Given the description of an element on the screen output the (x, y) to click on. 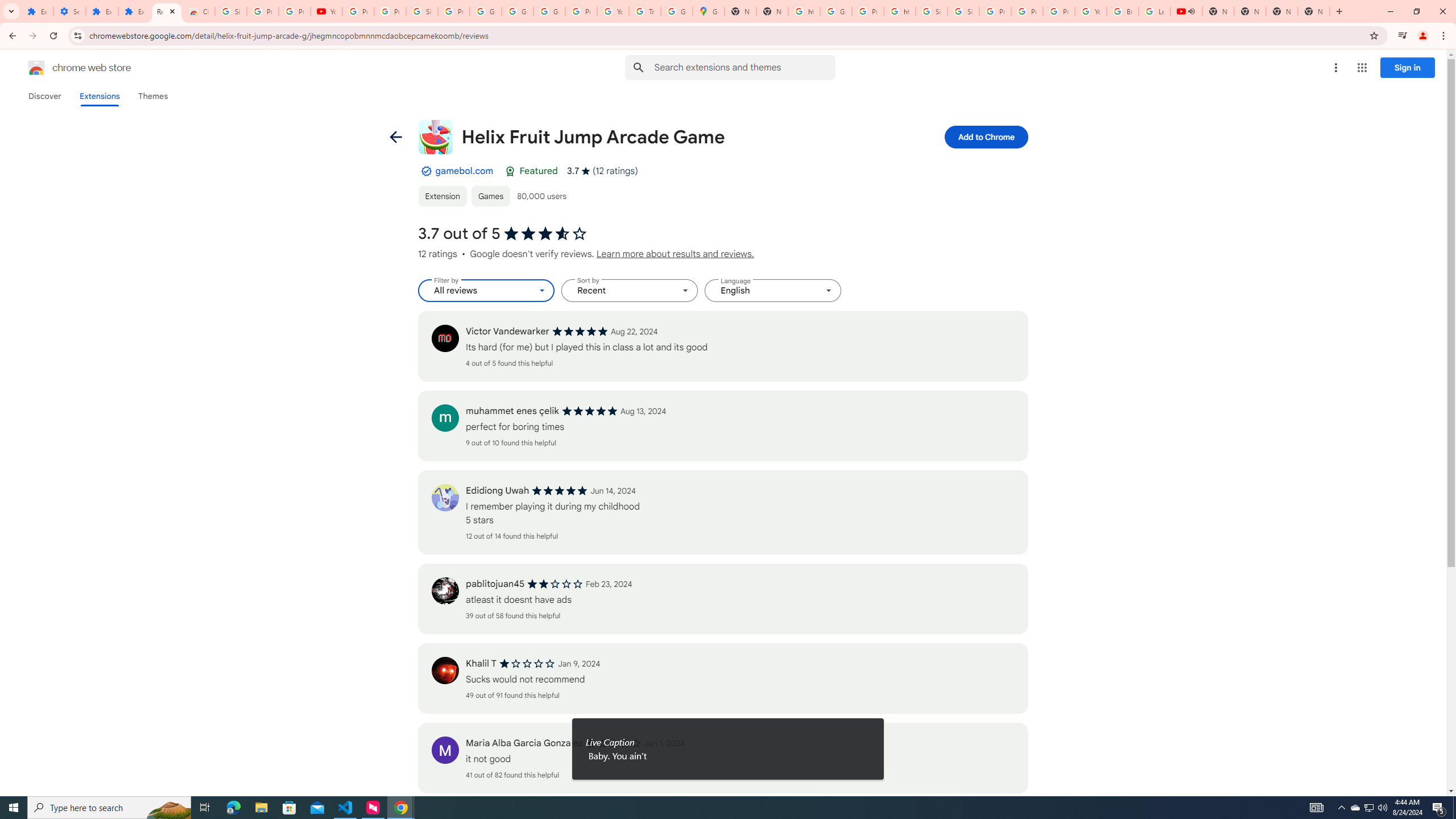
Google Account (517, 11)
Sort by Recent (629, 290)
